Given the description of an element on the screen output the (x, y) to click on. 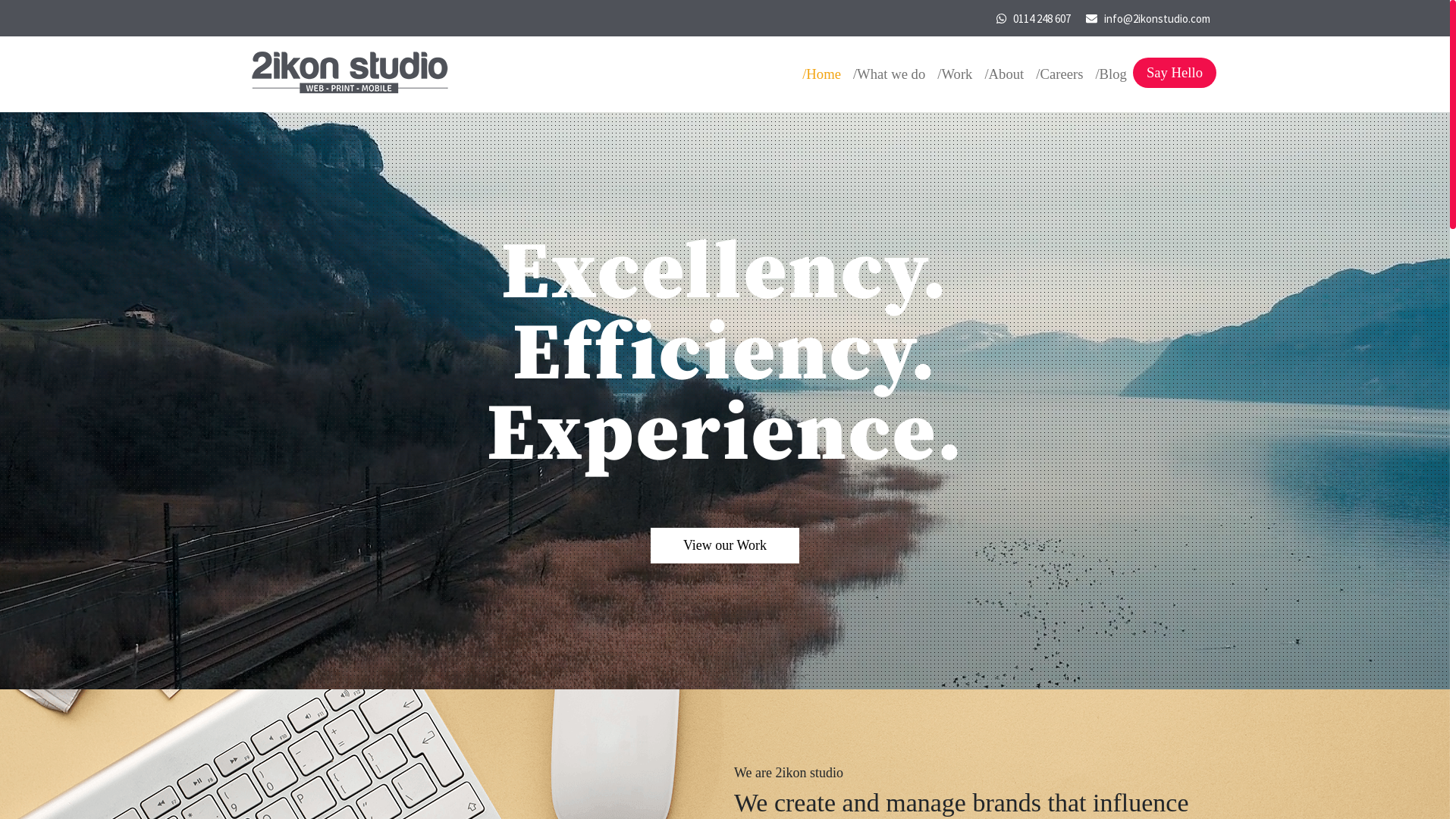
info@2ikonstudio.com Element type: text (1155, 18)
/Work Element type: text (954, 74)
/Careers Element type: text (1058, 74)
0114 248 607 Element type: text (1040, 18)
/Home Element type: text (821, 74)
View our Work Element type: text (724, 545)
/About Element type: text (1003, 74)
Say Hello Element type: text (1174, 72)
/What we do Element type: text (889, 74)
/Blog Element type: text (1110, 74)
